Given the description of an element on the screen output the (x, y) to click on. 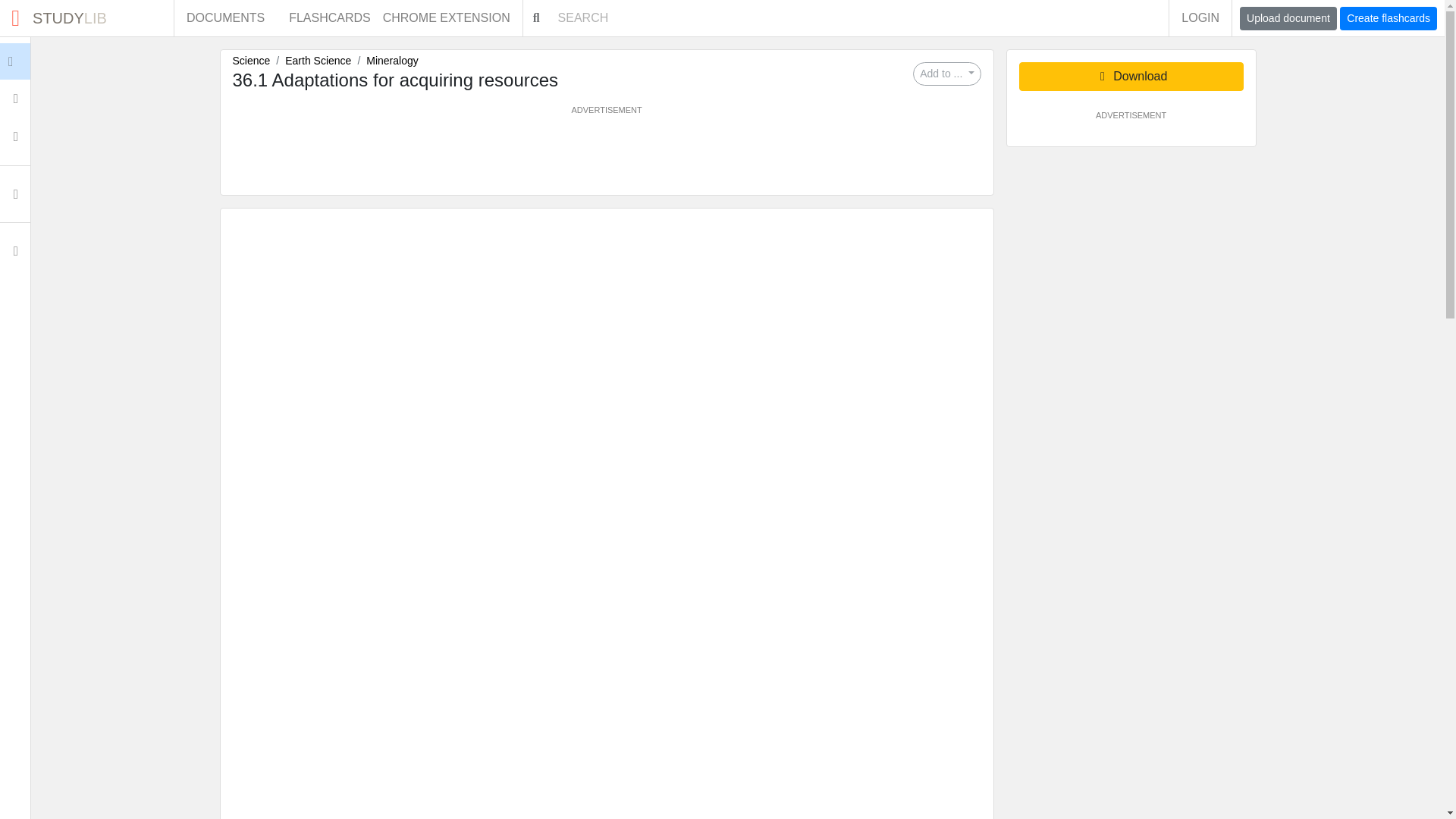
Science (250, 60)
Add to ... (946, 73)
DOCUMENTS (225, 18)
Upload document (1288, 18)
Earth Science (86, 18)
Create flashcards (317, 60)
Login (1388, 18)
Mineralogy (45, 61)
FLASHCARDS (391, 60)
